Given the description of an element on the screen output the (x, y) to click on. 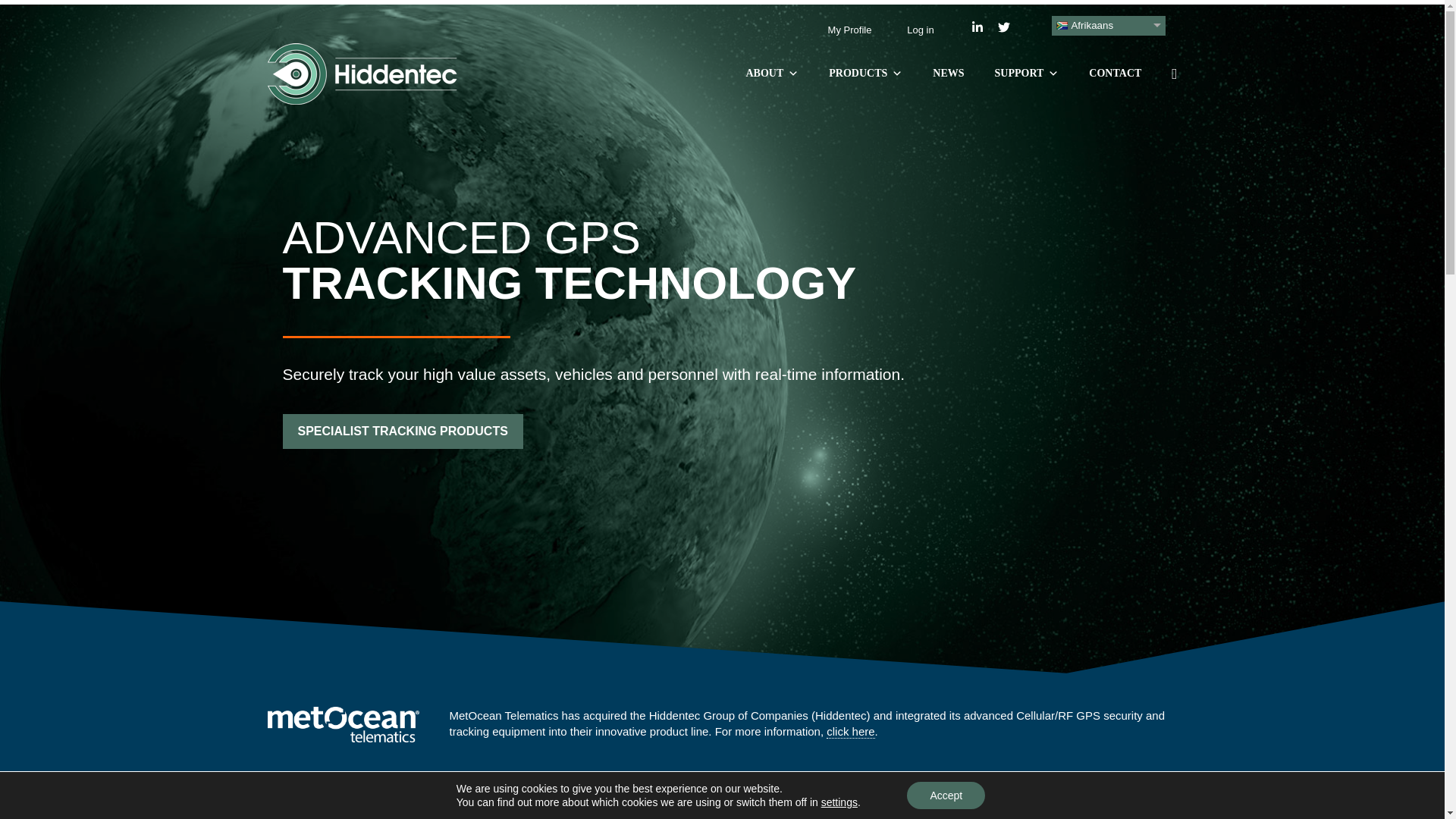
Afrikaans (1108, 25)
My Profile (850, 30)
Twitter (1003, 26)
Linkedin-in (977, 26)
Afrikaans (1108, 25)
Log in (920, 30)
